Given the description of an element on the screen output the (x, y) to click on. 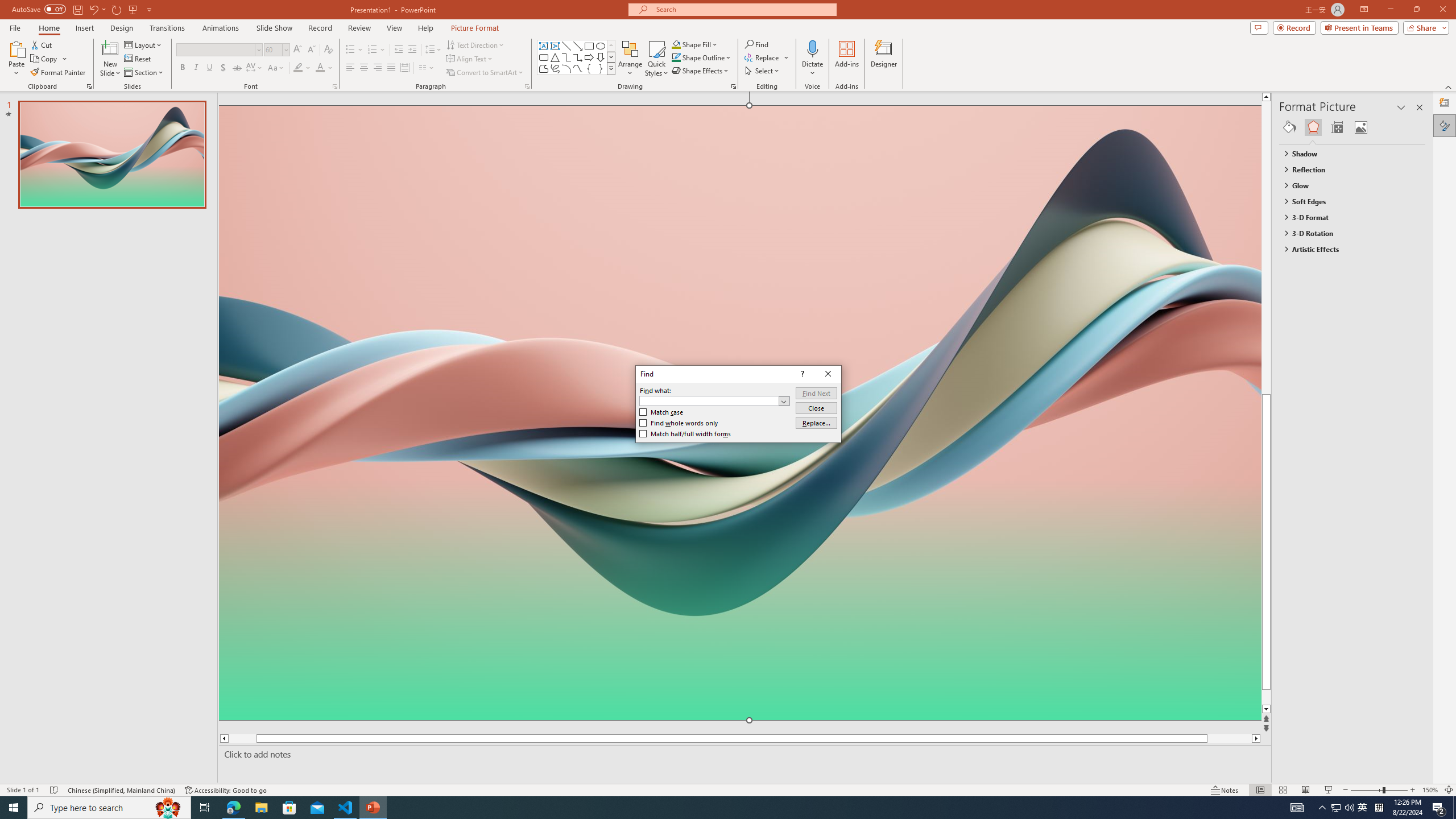
Soft Edges (1347, 201)
Find what (714, 400)
